Given the description of an element on the screen output the (x, y) to click on. 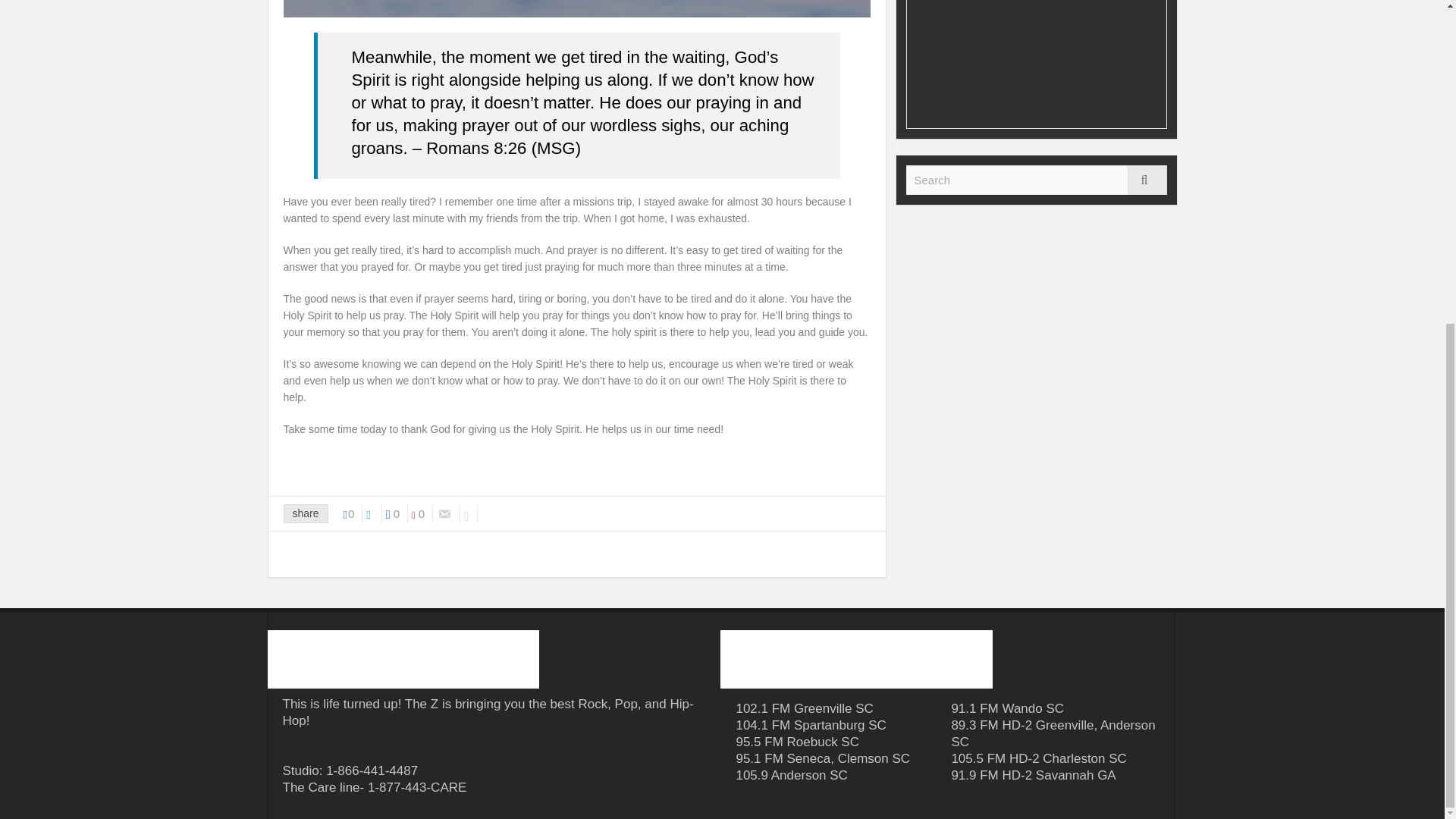
Search (1035, 179)
Search for: (1035, 179)
0 (396, 513)
Search (1035, 179)
Search (1146, 179)
0 (352, 513)
0 (422, 513)
